Given the description of an element on the screen output the (x, y) to click on. 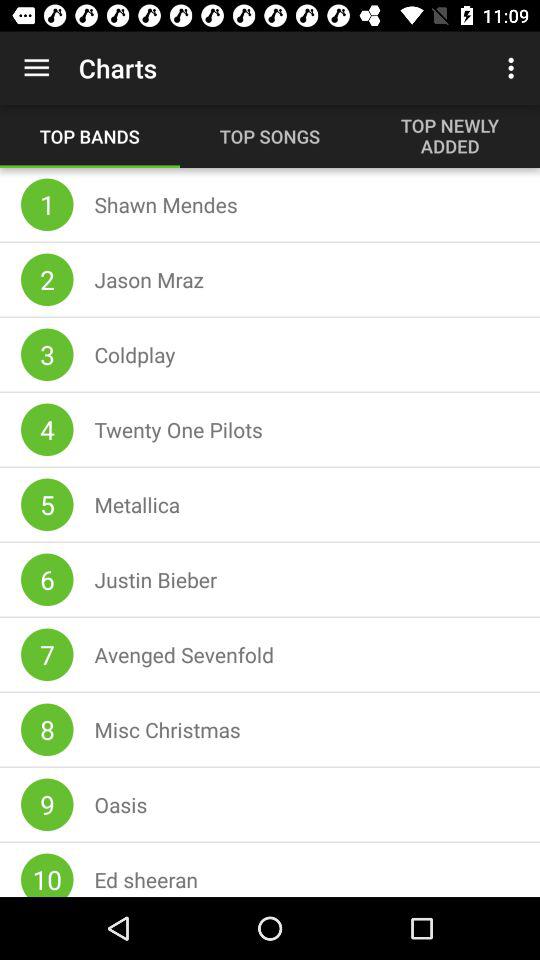
swipe to the 7 icon (47, 654)
